Given the description of an element on the screen output the (x, y) to click on. 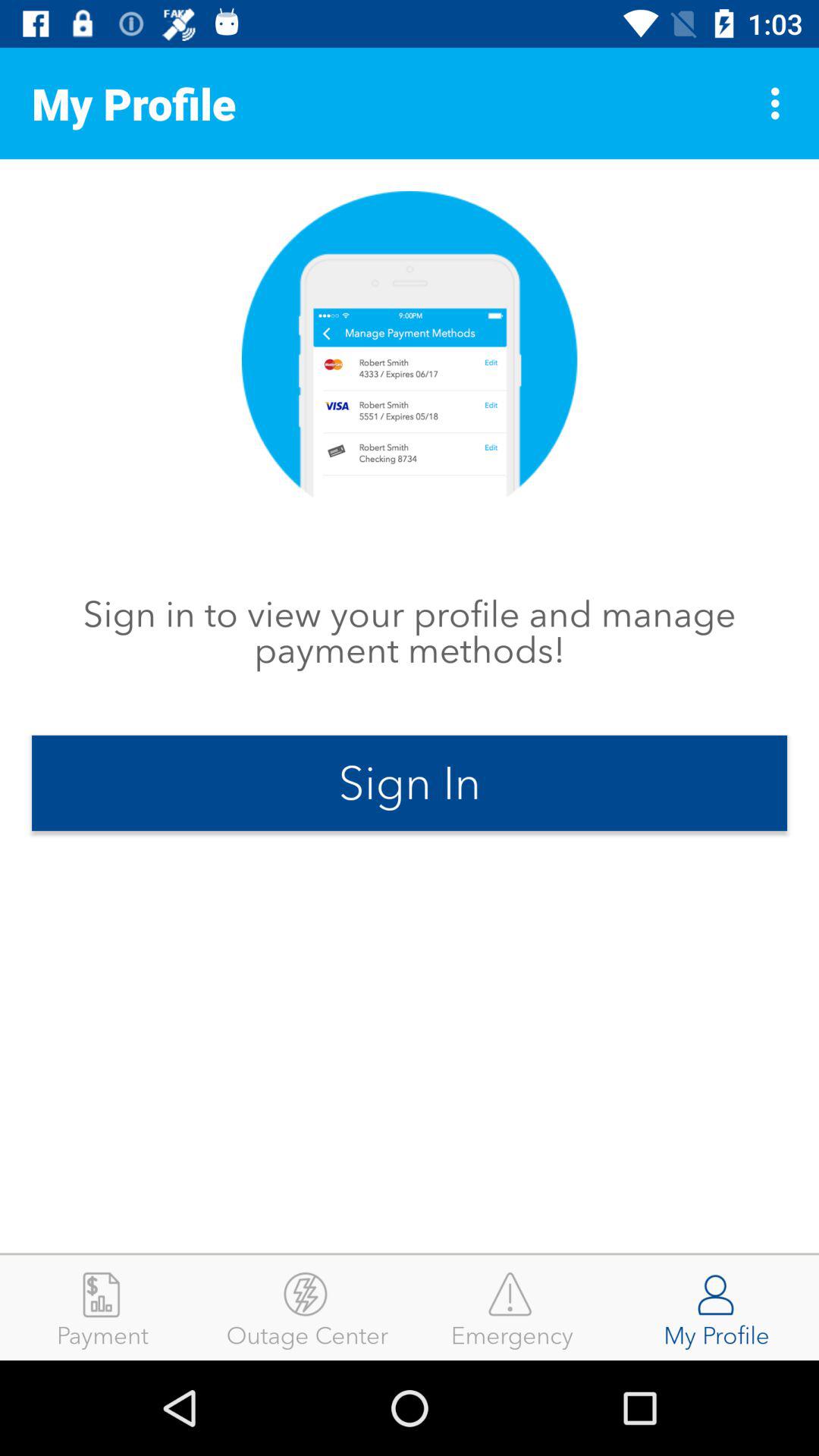
tap item to the right of payment item (306, 1307)
